Given the description of an element on the screen output the (x, y) to click on. 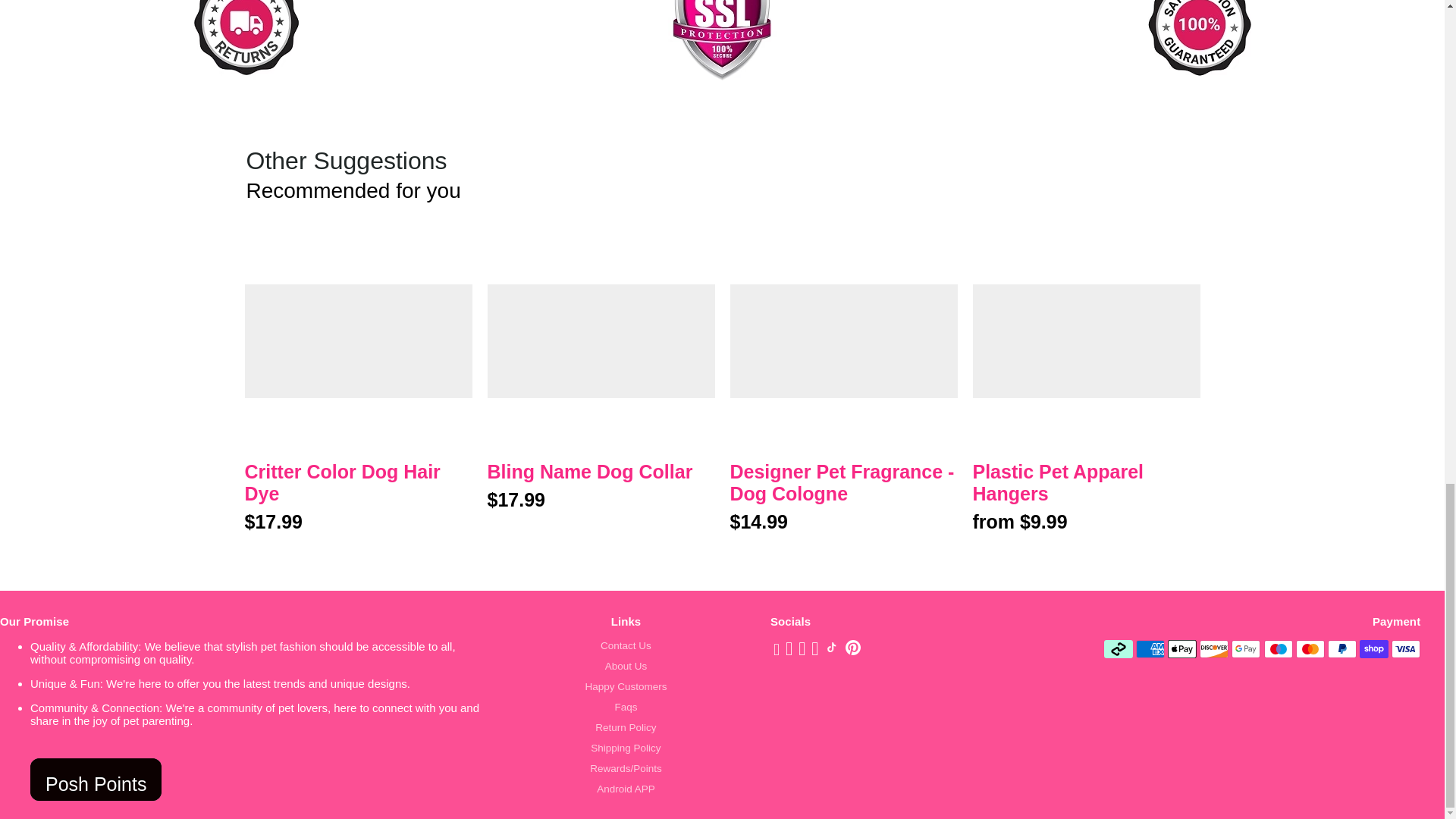
Google Pay (1245, 648)
American Express (1149, 648)
Mastercard (1309, 648)
Afterpay (1117, 648)
Maestro (1277, 648)
PayPal (1341, 648)
Shop Pay (1374, 648)
Apple Pay (1181, 648)
Discover (1213, 648)
Visa (1406, 648)
